Given the description of an element on the screen output the (x, y) to click on. 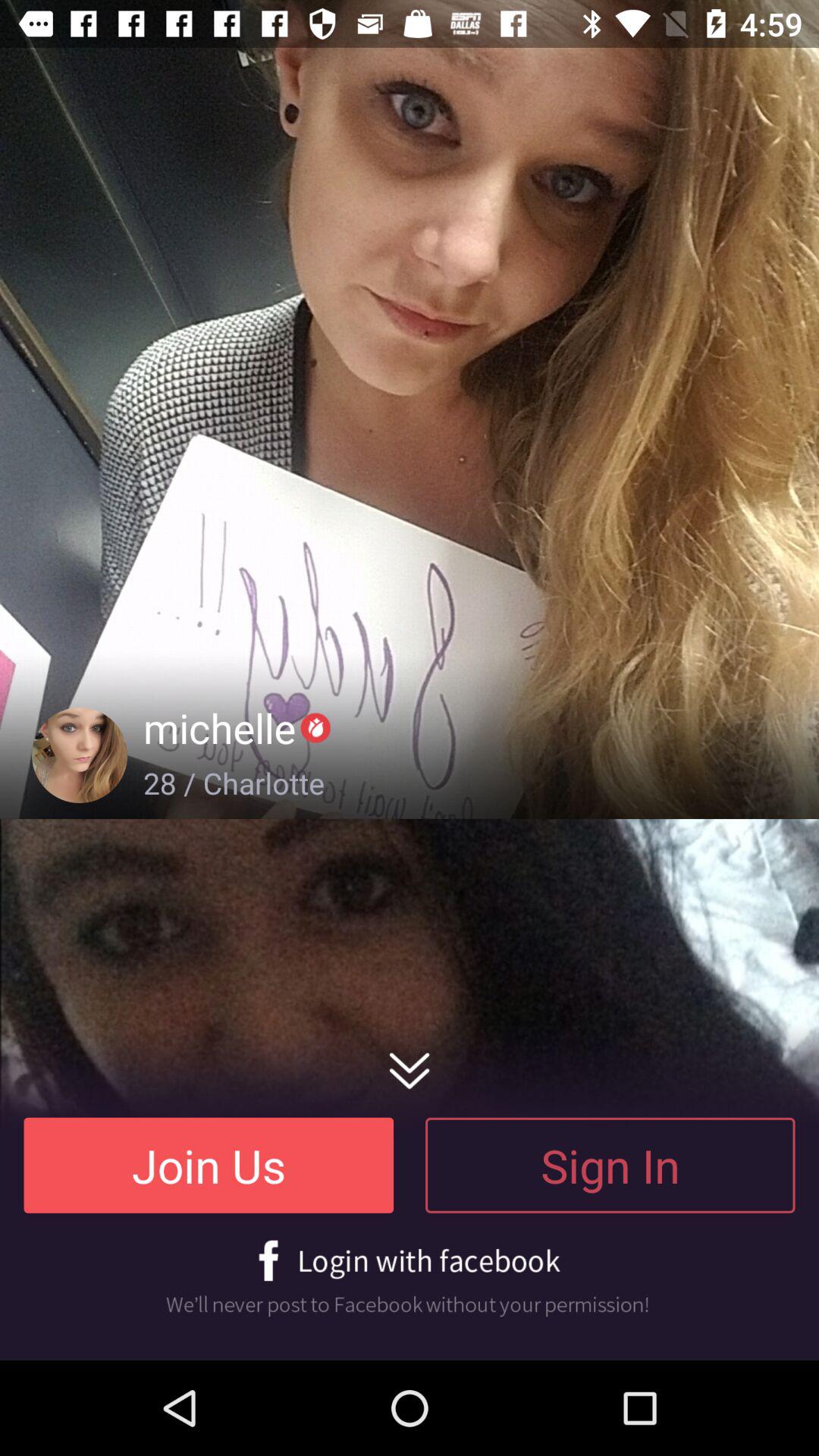
tap sign in icon (610, 1165)
